Given the description of an element on the screen output the (x, y) to click on. 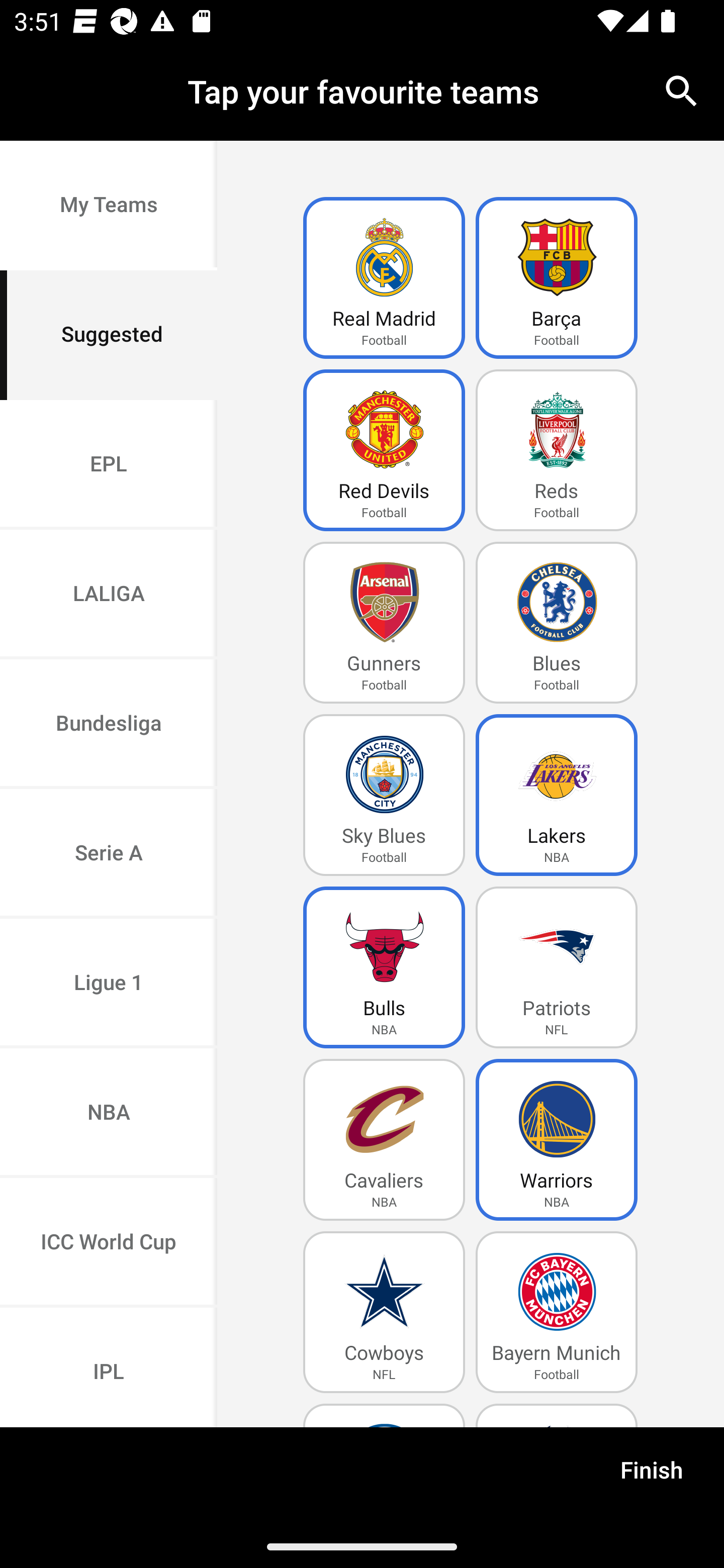
search (681, 90)
My Teams (108, 206)
Real Madrid Real MadridSelected Football (383, 278)
Barça BarçaSelected Football (556, 278)
Suggested (108, 334)
Red Devils Red DevilsSelected Football (383, 450)
Reds Reds Football (556, 450)
EPL (108, 464)
LALIGA (108, 594)
Gunners Gunners Football (383, 623)
Blues Blues Football (556, 623)
Bundesliga (108, 725)
Sky Blues Sky Blues Football (383, 794)
Lakers LakersSelected NBA (556, 794)
Serie A (108, 853)
Bulls BullsSelected NBA (383, 966)
Patriots Patriots NFL (556, 966)
Ligue 1 (108, 983)
NBA (108, 1113)
Cavaliers Cavaliers NBA (383, 1139)
Warriors WarriorsSelected NBA (556, 1139)
ICC World Cup (108, 1242)
Cowboys Cowboys NFL (383, 1311)
Bayern Munich Bayern Munich Football (556, 1311)
IPL (108, 1366)
Finish Finish and Close (651, 1475)
